Given the description of an element on the screen output the (x, y) to click on. 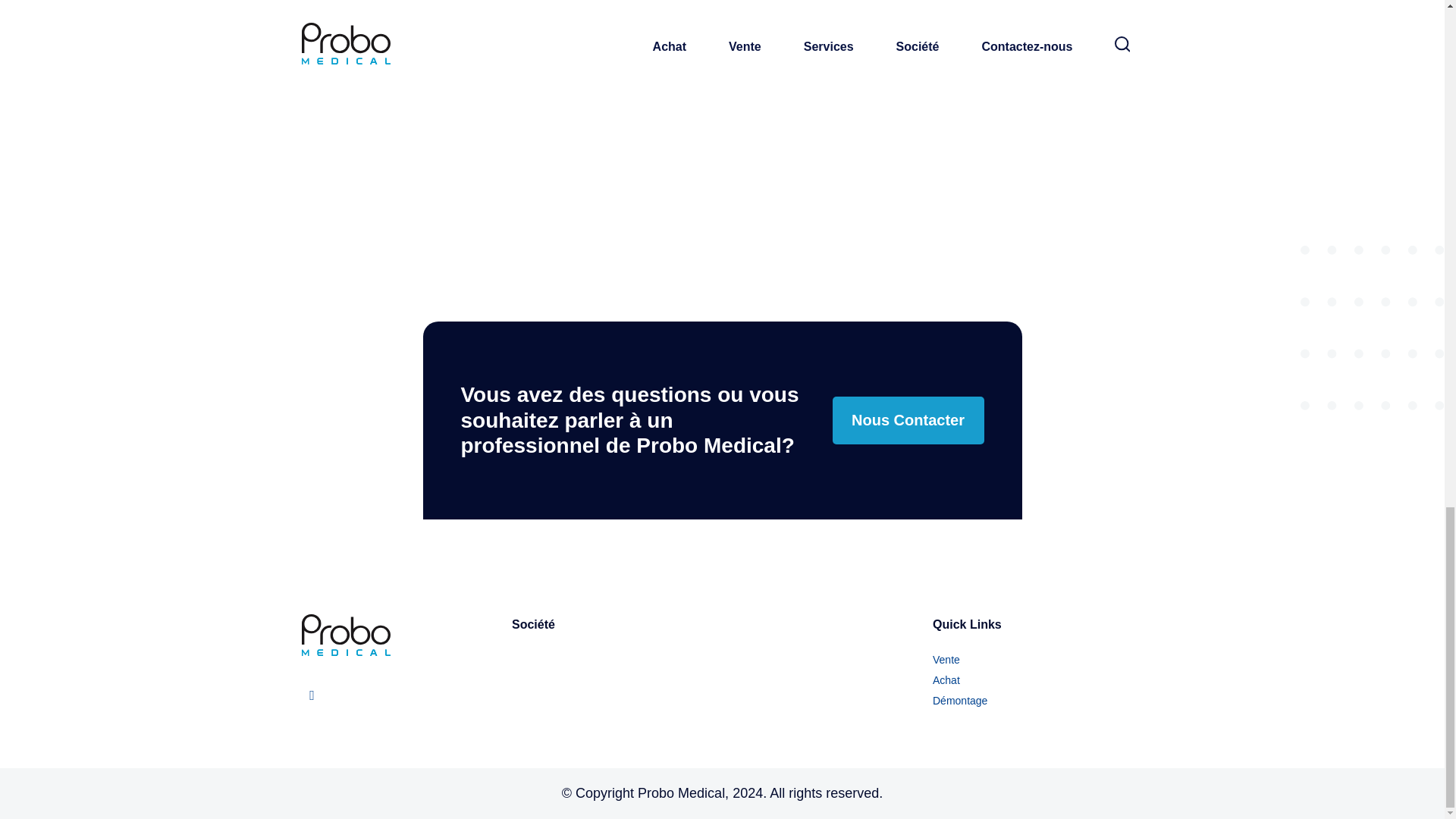
Nous Contacter (908, 420)
service coordinator (1009, 78)
service coordinators  (434, 122)
Sales team (722, 78)
Achat (946, 680)
Vente (946, 659)
